Given the description of an element on the screen output the (x, y) to click on. 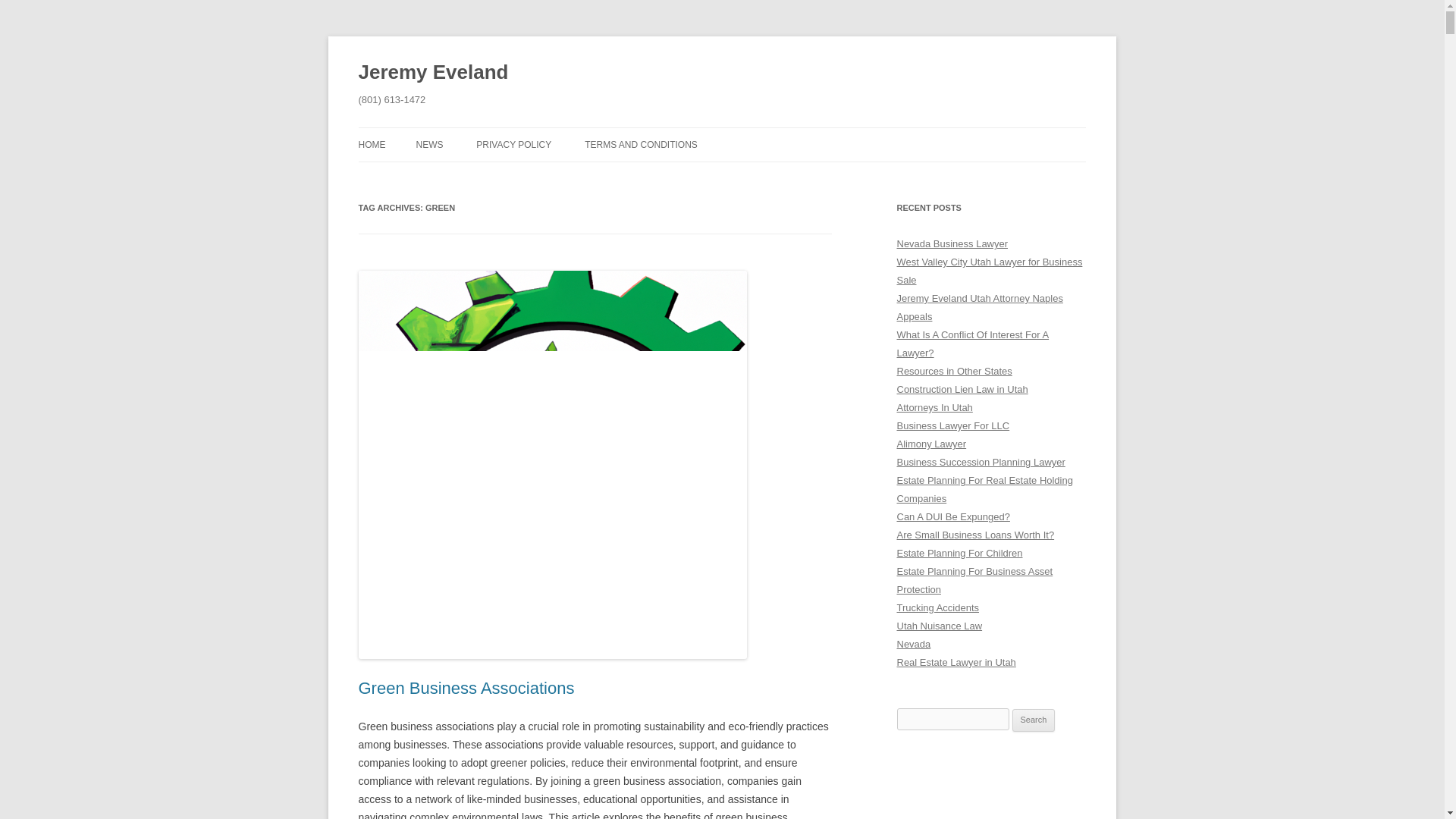
PRIVACY POLICY (513, 144)
TERMS AND CONDITIONS (641, 144)
Search (1033, 720)
Jeremy Eveland (433, 72)
Green Business Associations (465, 687)
